Given the description of an element on the screen output the (x, y) to click on. 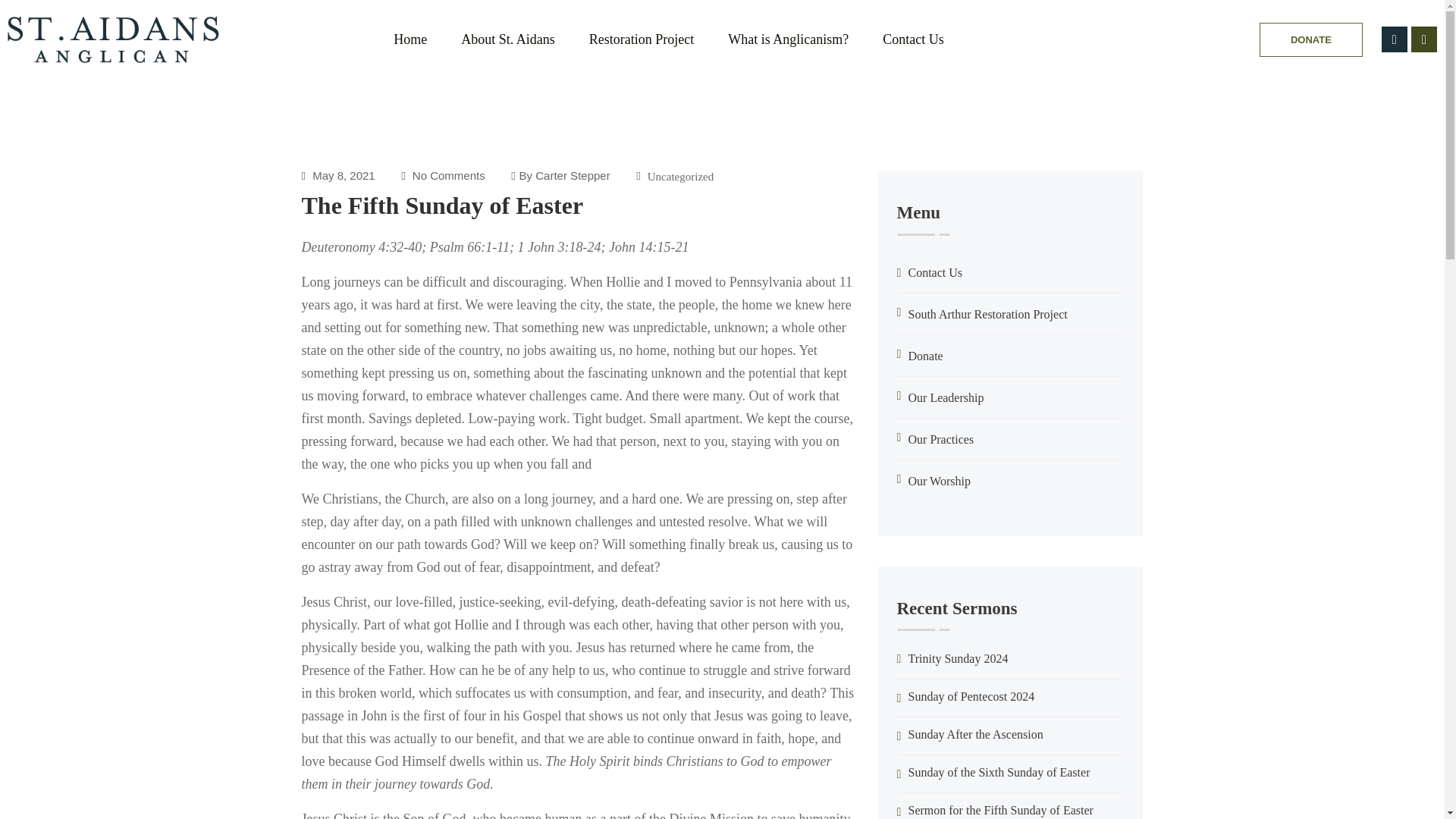
Home (409, 38)
About St. Aidans (507, 38)
Restoration Project (641, 38)
What is Anglicanism? (788, 38)
Contact Us (912, 38)
DONATE (1310, 39)
